Given the description of an element on the screen output the (x, y) to click on. 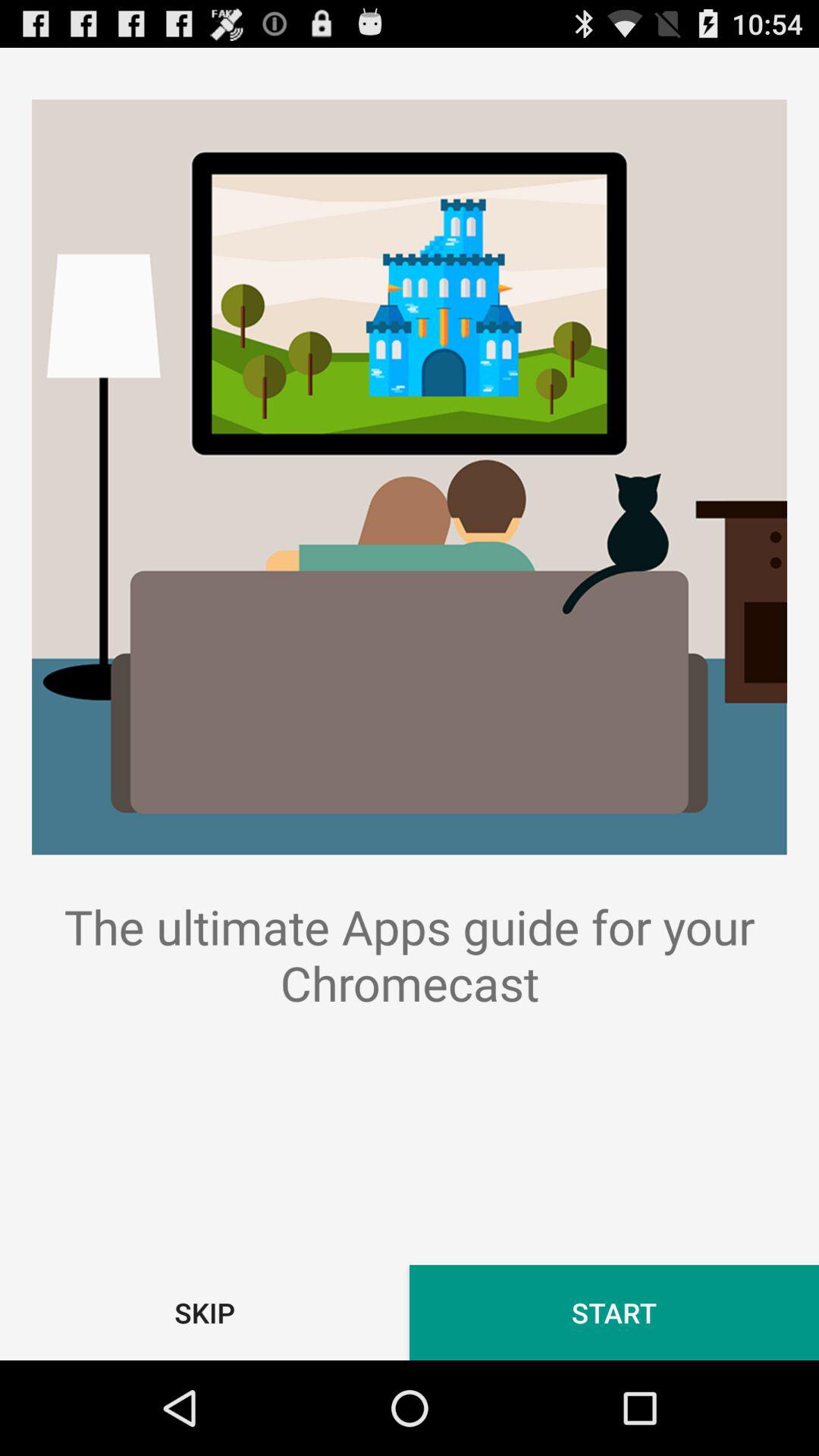
swipe to the skip button (204, 1312)
